Given the description of an element on the screen output the (x, y) to click on. 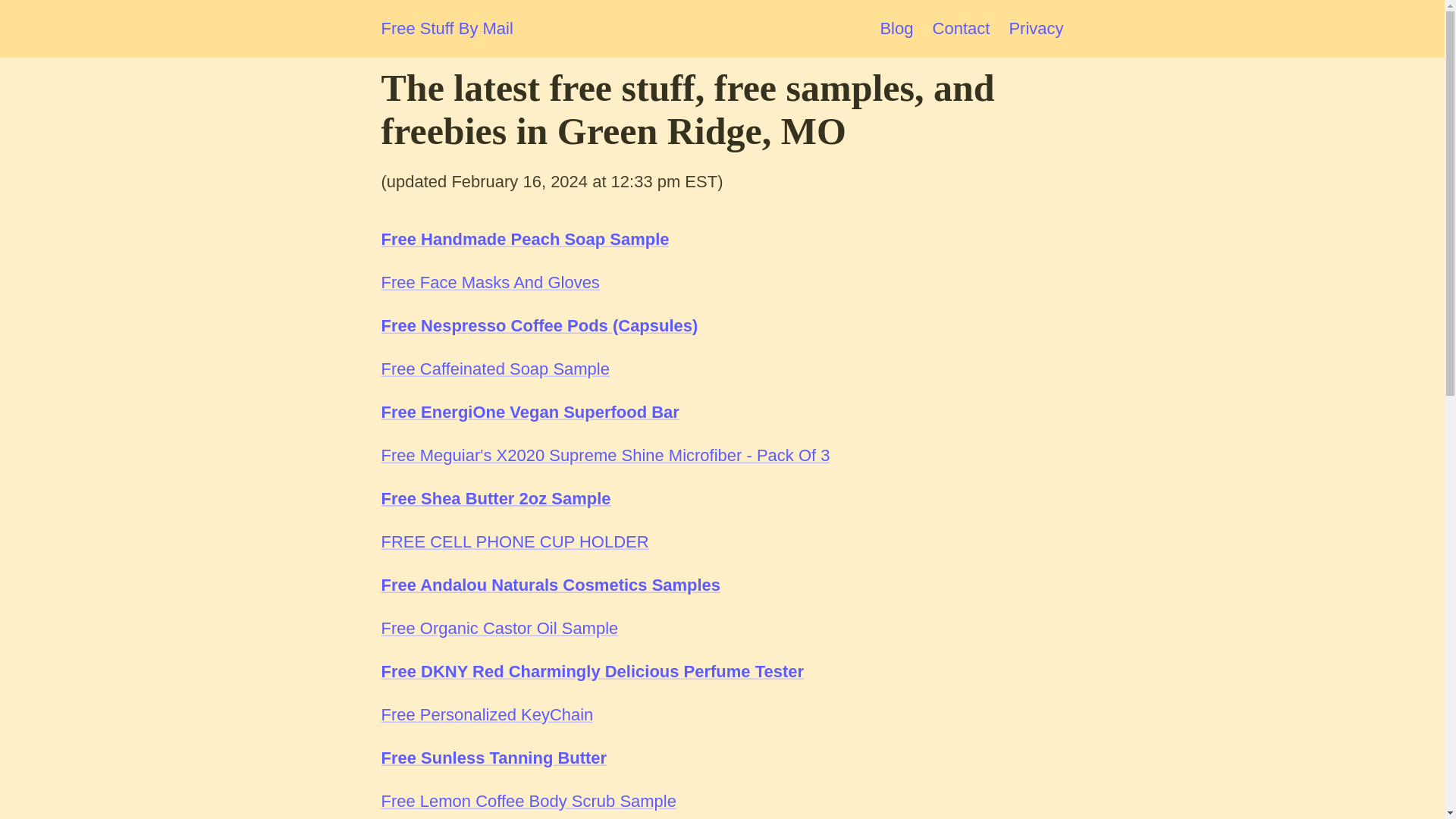
Free Sunless Tanning Butter (493, 757)
Privacy (1035, 27)
Free Handmade Peach Soap Sample (524, 239)
Free Face Masks And Gloves (489, 281)
Free Lemon Coffee Body Scrub Sample (527, 800)
Contact (961, 27)
Blog (895, 27)
FREE CELL PHONE CUP HOLDER (513, 541)
Free DKNY Red Charmingly Delicious Perfume Tester (591, 670)
Free Personalized KeyChain (486, 714)
Free Meguiar's X2020 Supreme Shine Microfiber - Pack Of 3 (604, 455)
Free Andalou Naturals Cosmetics Samples (550, 584)
Free Stuff By Mail (446, 28)
Free EnergiOne Vegan Superfood Bar (529, 411)
Free Shea Butter 2oz Sample (495, 497)
